Given the description of an element on the screen output the (x, y) to click on. 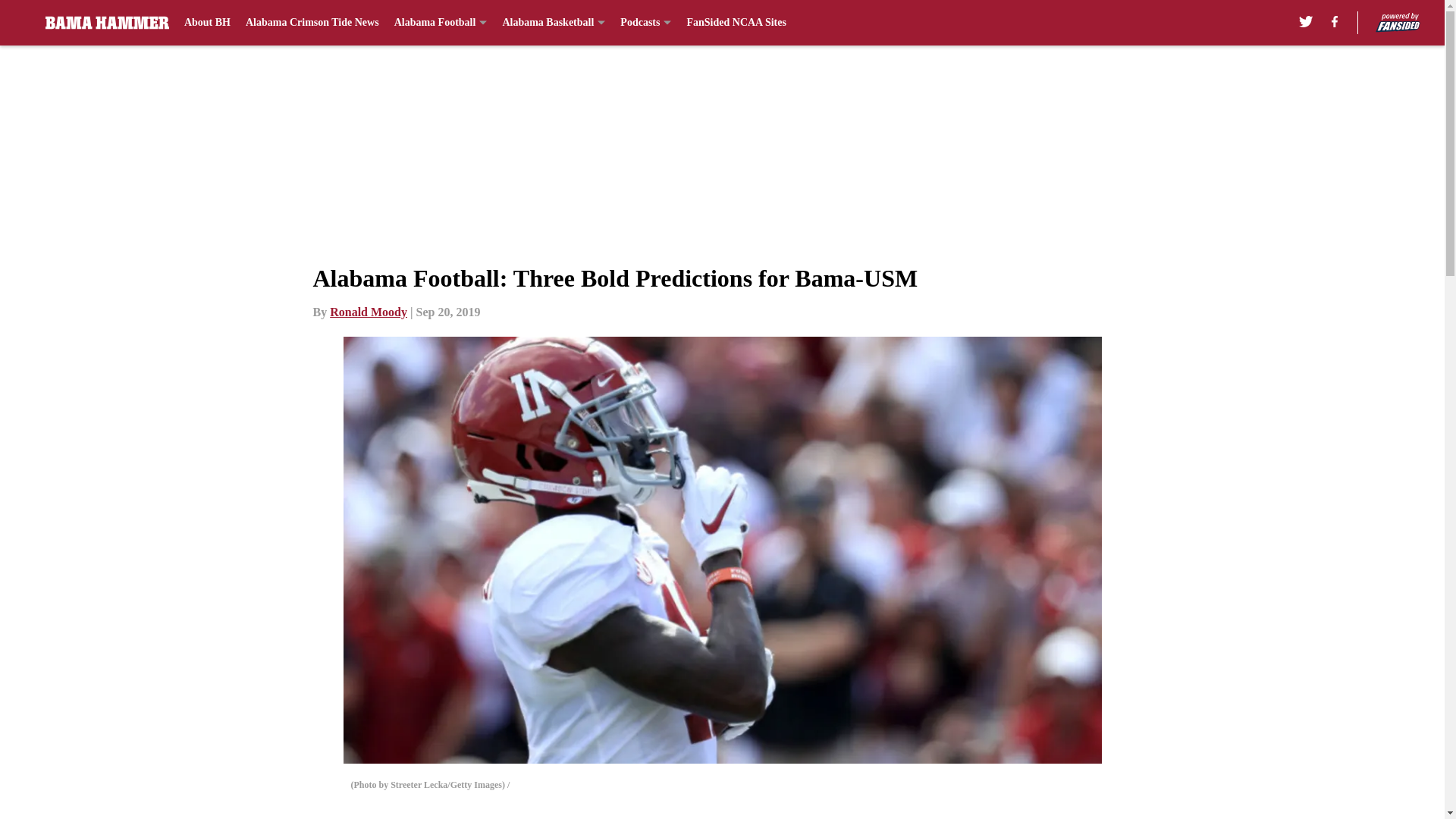
Alabama Crimson Tide News (312, 22)
FanSided NCAA Sites (735, 22)
Ronald Moody (368, 311)
About BH (207, 22)
